Given the description of an element on the screen output the (x, y) to click on. 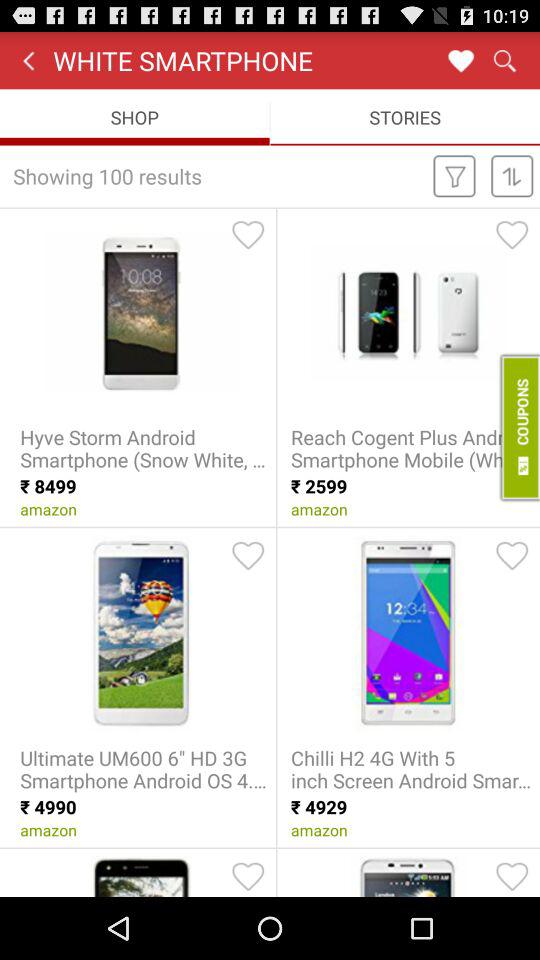
search for results (504, 60)
